Given the description of an element on the screen output the (x, y) to click on. 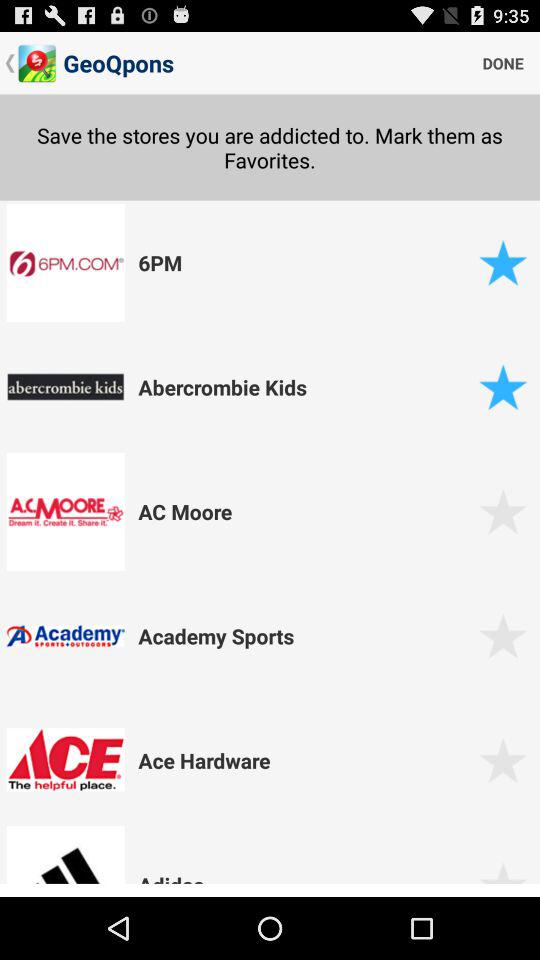
jump to the academy sports app (305, 635)
